Given the description of an element on the screen output the (x, y) to click on. 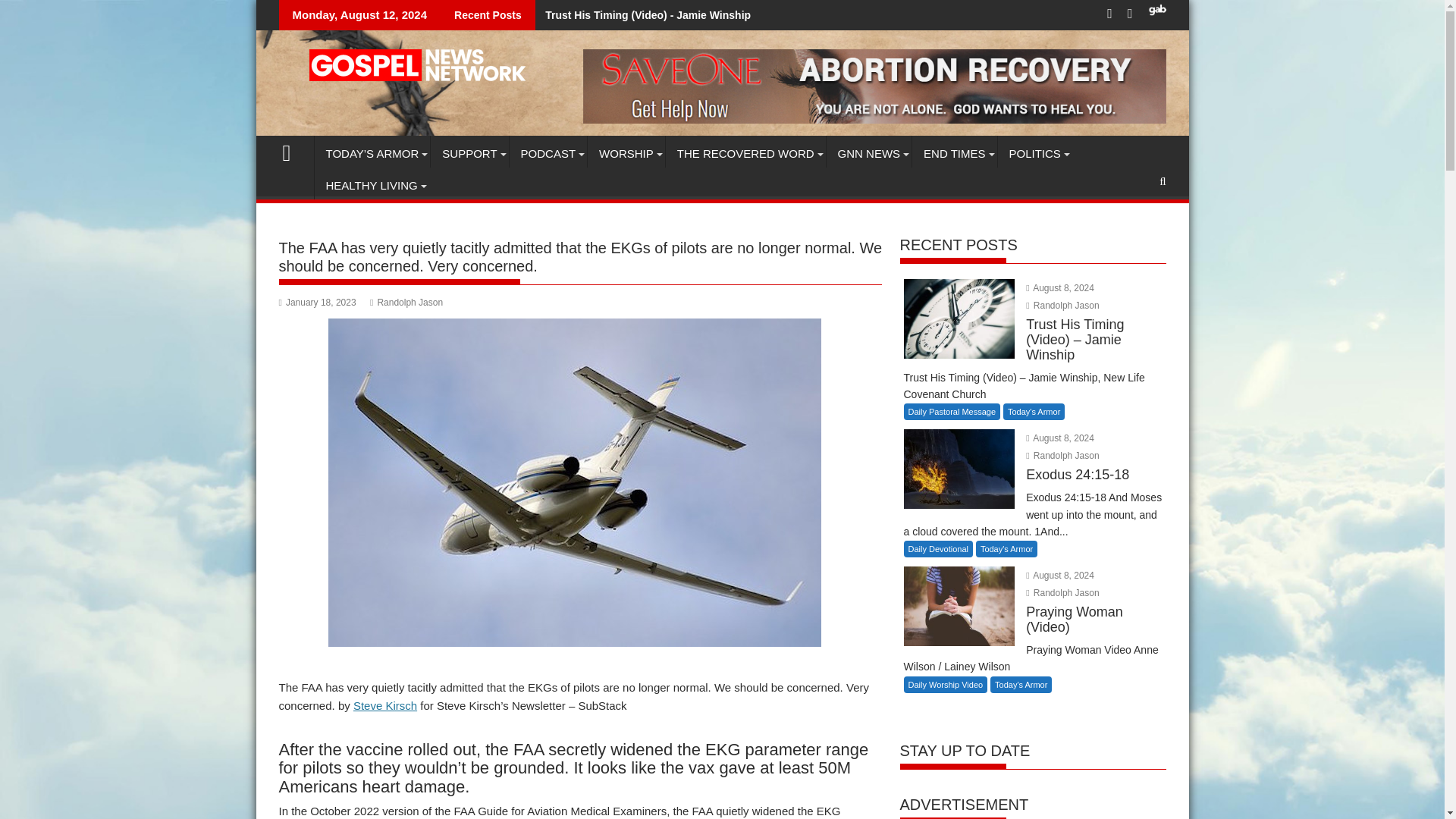
Gospel News Network (293, 150)
PODCAST (548, 153)
END TIMES (953, 153)
WORSHIP (626, 153)
SUPPORT (469, 153)
GNN NEWS (869, 153)
